Given the description of an element on the screen output the (x, y) to click on. 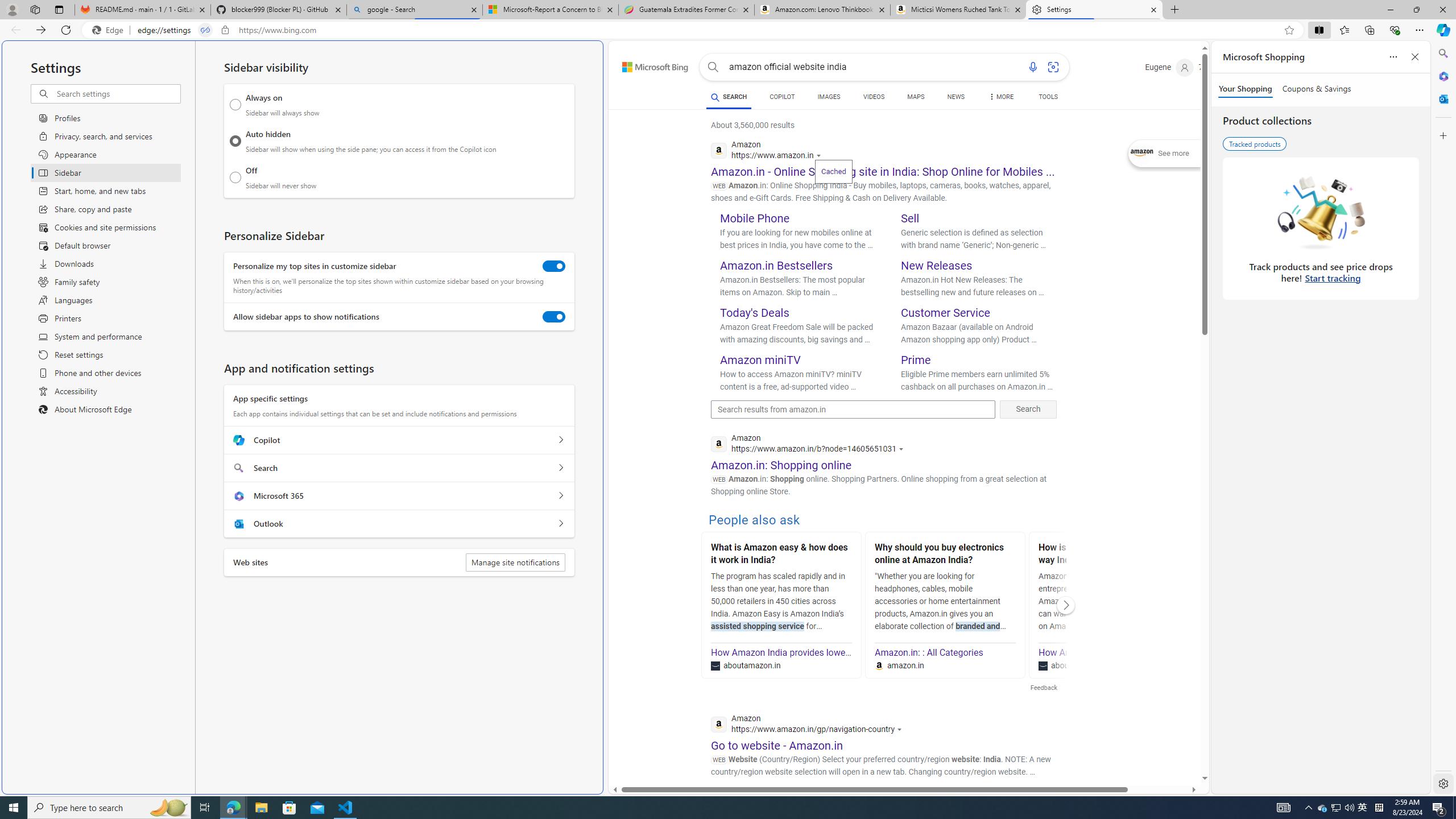
New Releases (936, 265)
Customer Service (945, 312)
Search using voice (1032, 66)
Go to website - Amazon.in (776, 745)
